Given the description of an element on the screen output the (x, y) to click on. 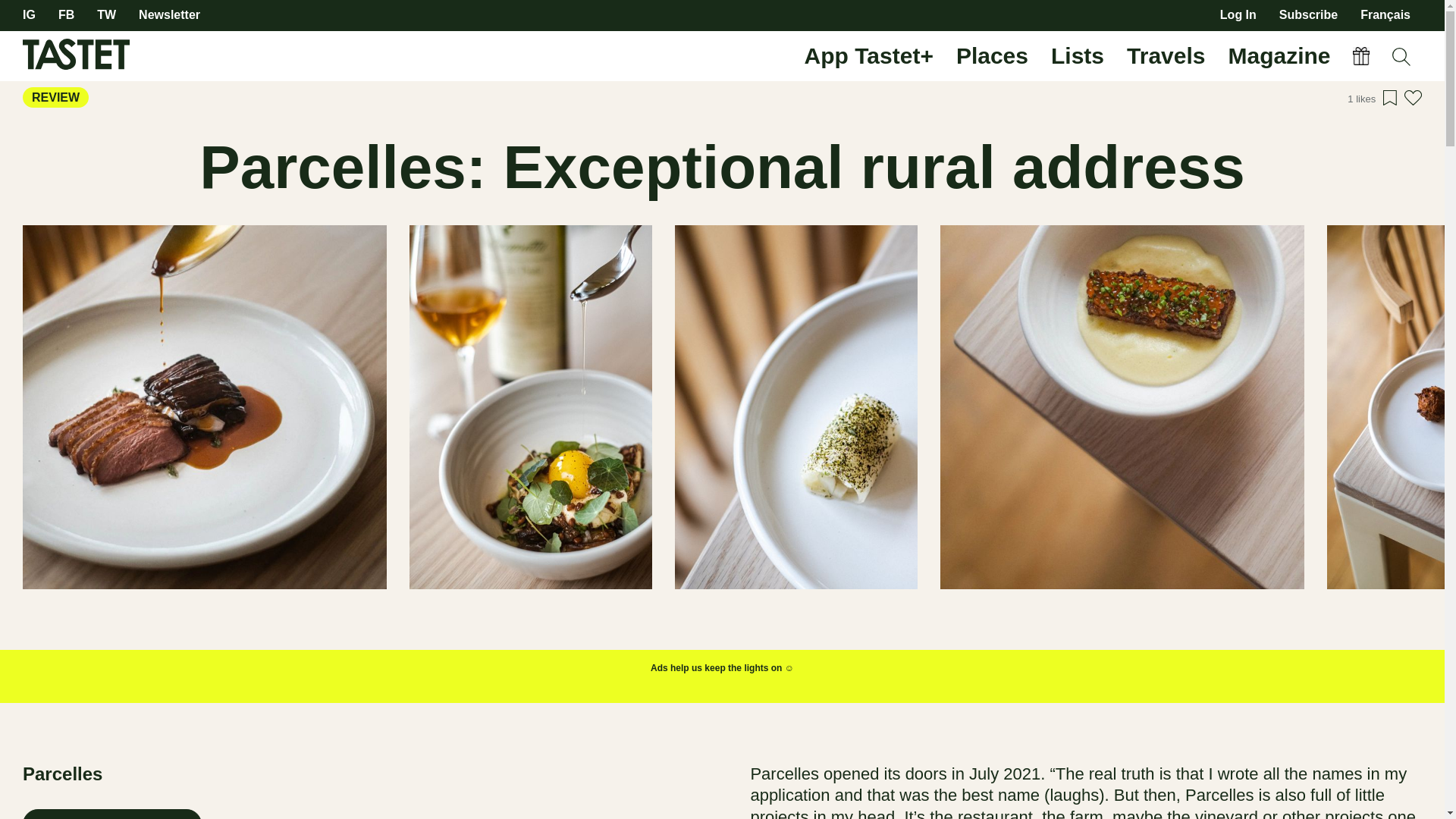
Newsletter (169, 15)
REVIEW (55, 96)
Log In (1238, 15)
Twitter (106, 15)
FB (66, 15)
Travels (1165, 55)
Tastet (162, 55)
Lists (1077, 55)
Magazine (1278, 55)
Places (991, 55)
